Given the description of an element on the screen output the (x, y) to click on. 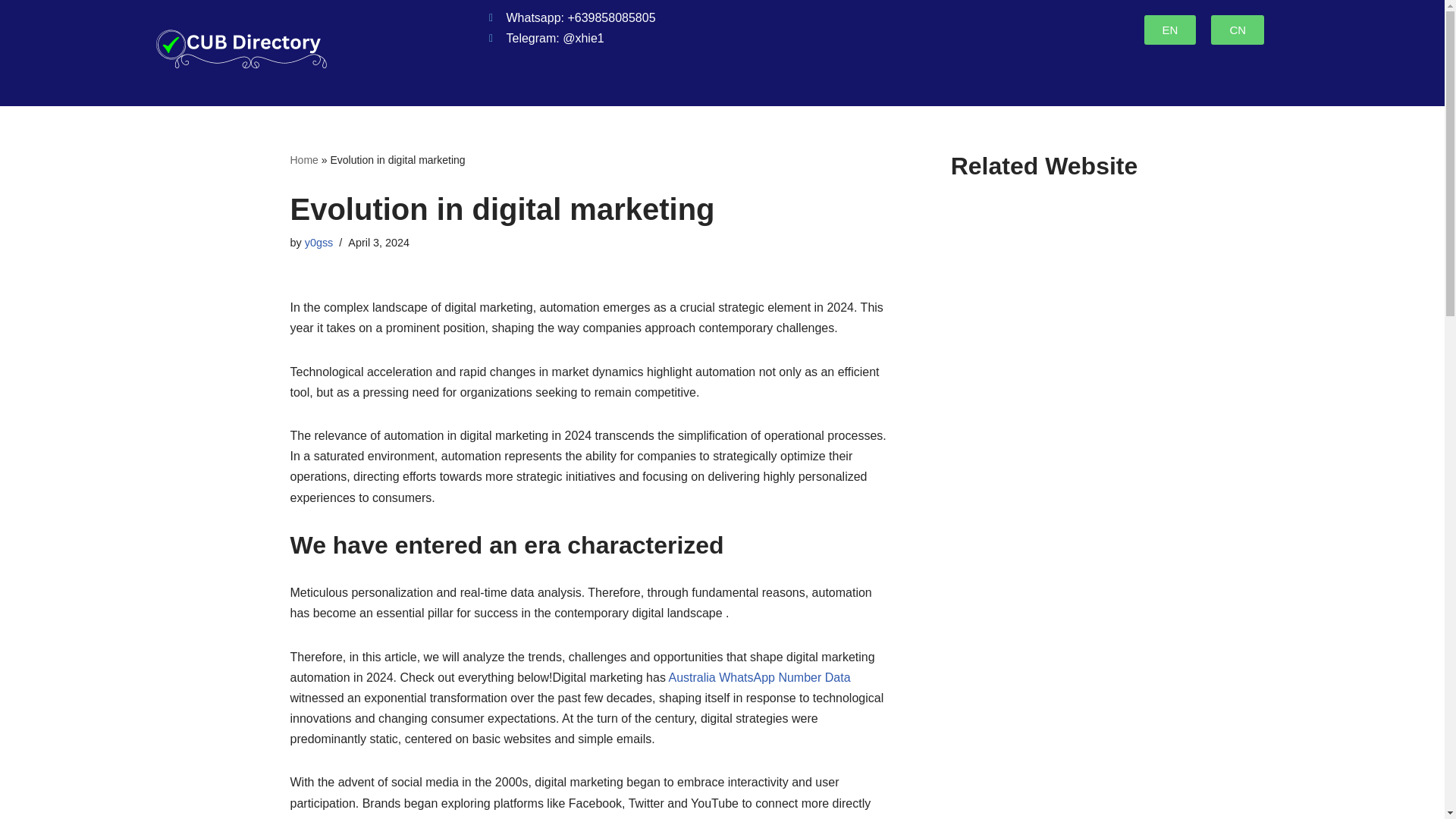
Posts by y0gss (318, 242)
Australia WhatsApp Number Data (759, 676)
EN (1170, 30)
Skip to content (11, 31)
Home (303, 159)
CN (1237, 30)
y0gss (318, 242)
